Given the description of an element on the screen output the (x, y) to click on. 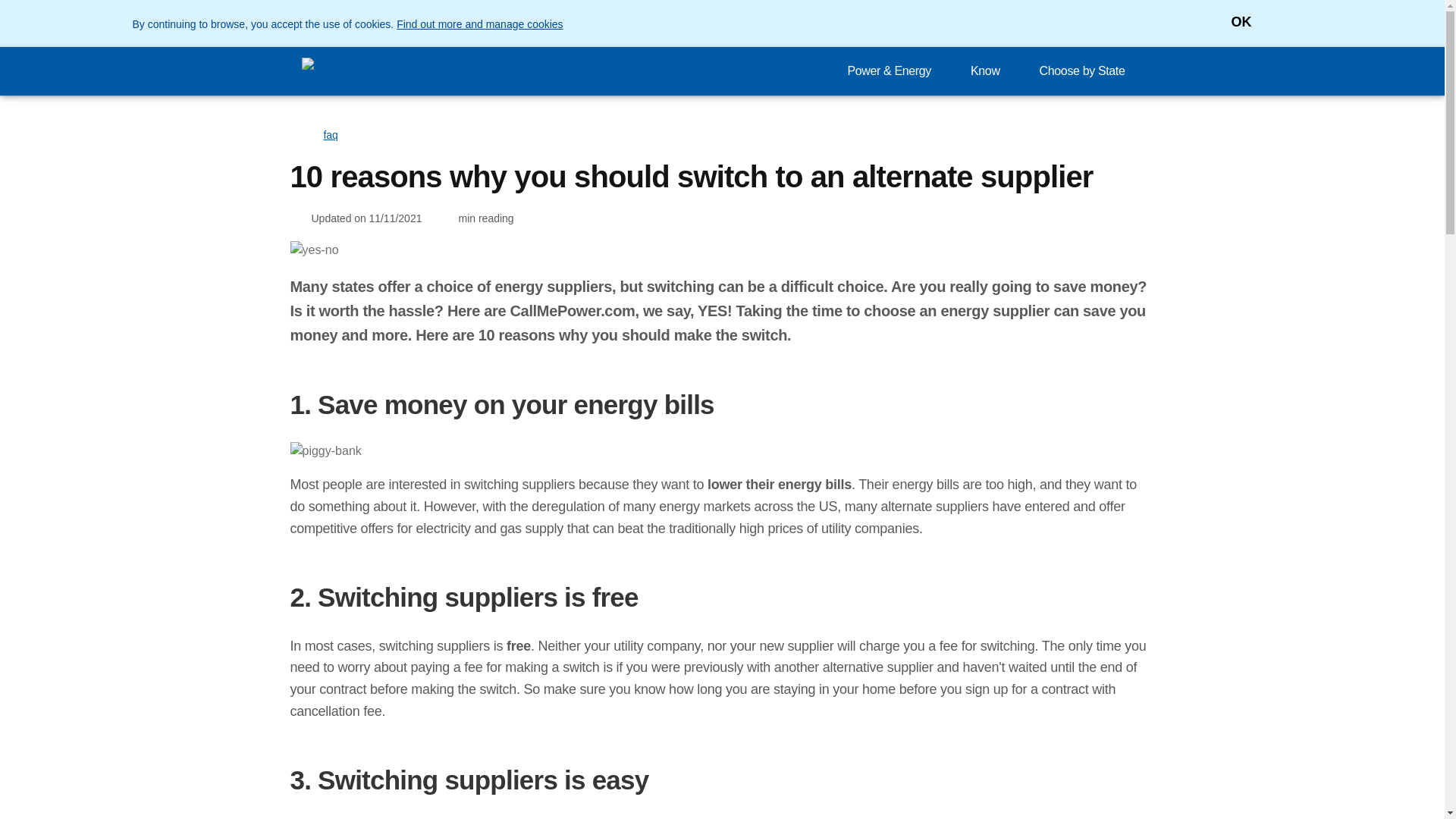
Home (298, 134)
OK (1229, 22)
Choose by State (1086, 71)
